Given the description of an element on the screen output the (x, y) to click on. 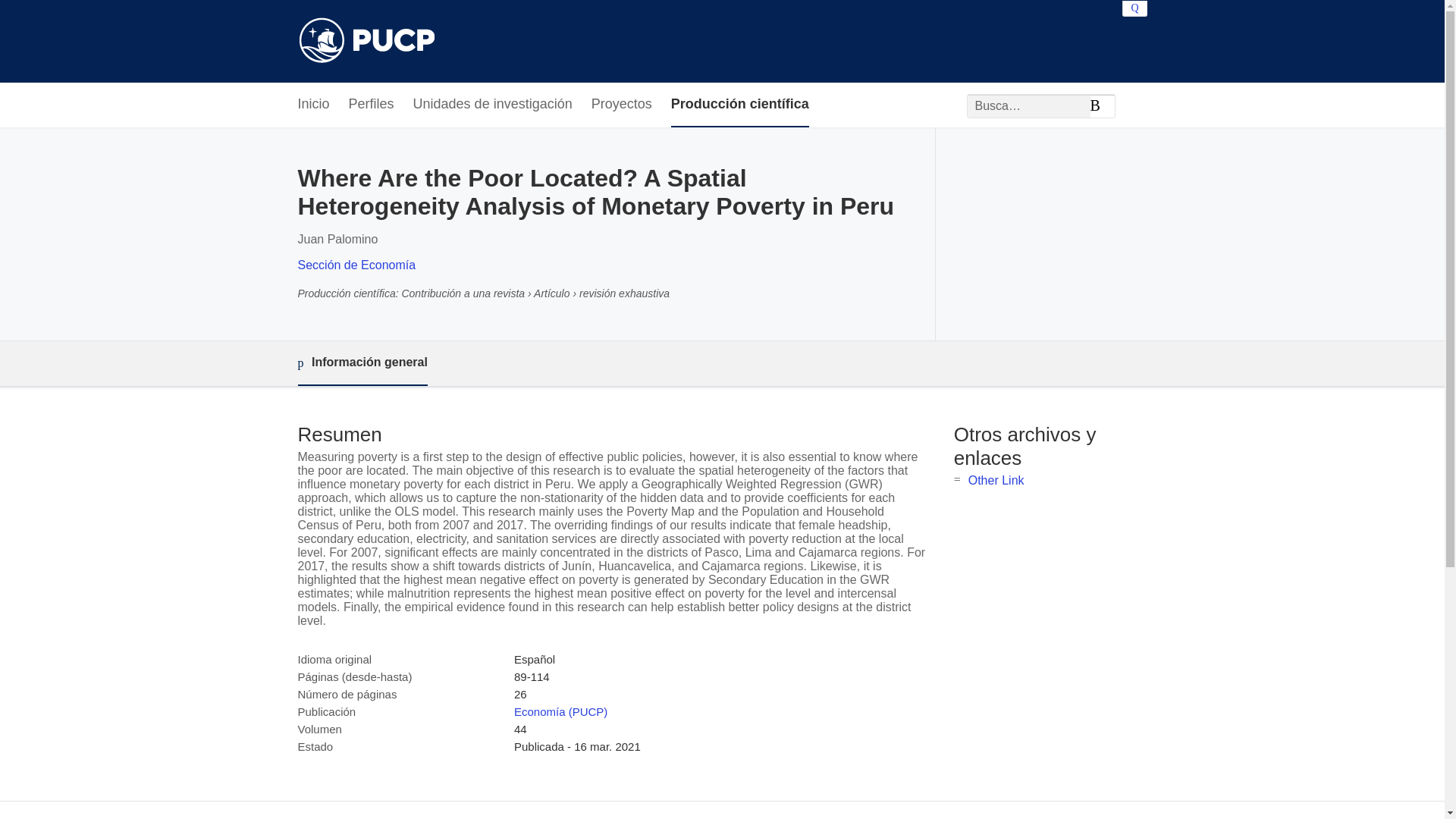
Other Link (996, 480)
Proyectos (621, 104)
Perfiles (371, 104)
